Given the description of an element on the screen output the (x, y) to click on. 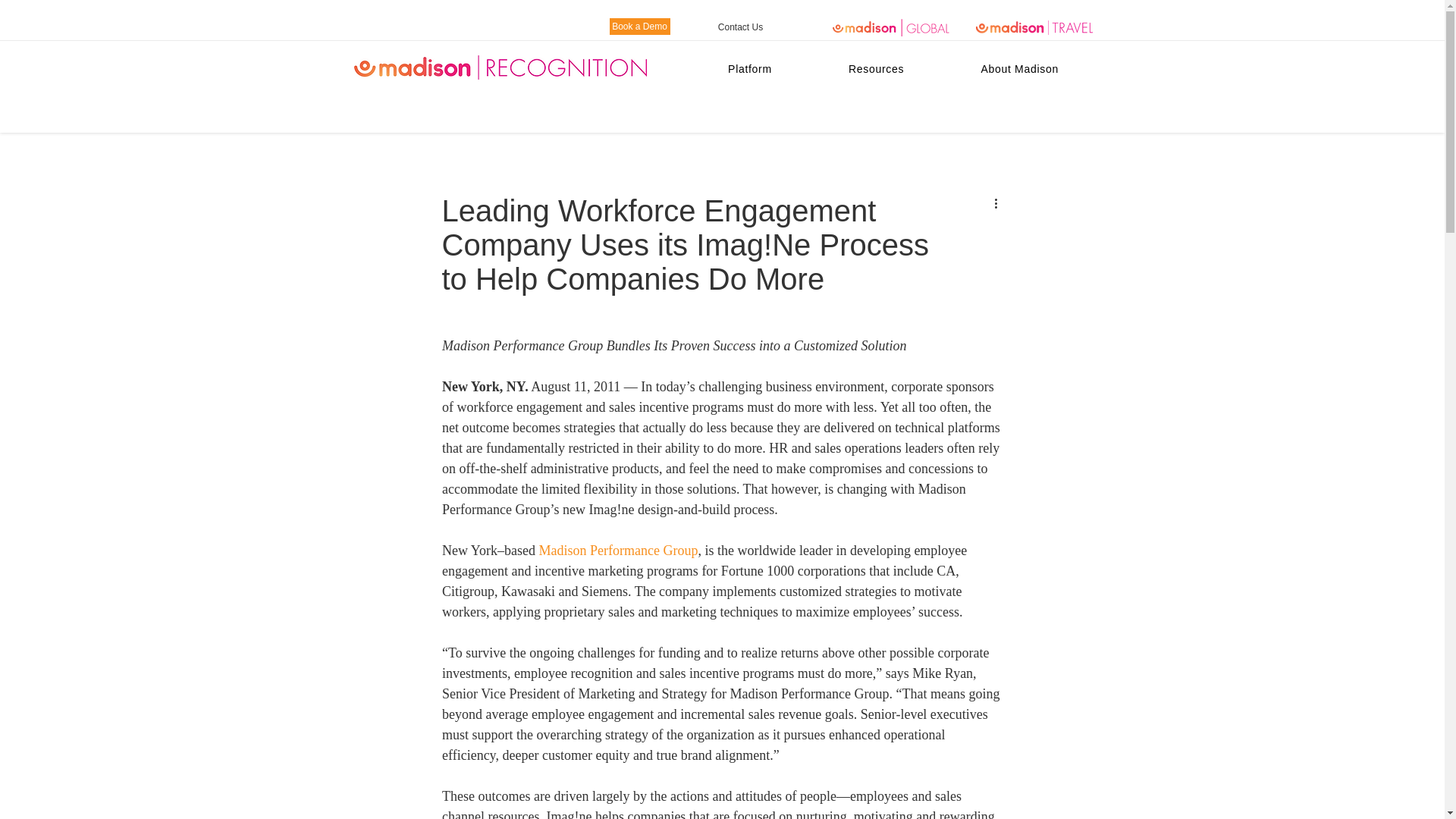
Madison Performance Group (617, 549)
Contact Us (739, 27)
HRO (927, 66)
Contact Us (1031, 66)
Book a Demo (639, 26)
HRO AWARD (824, 66)
DEMO (721, 66)
